Given the description of an element on the screen output the (x, y) to click on. 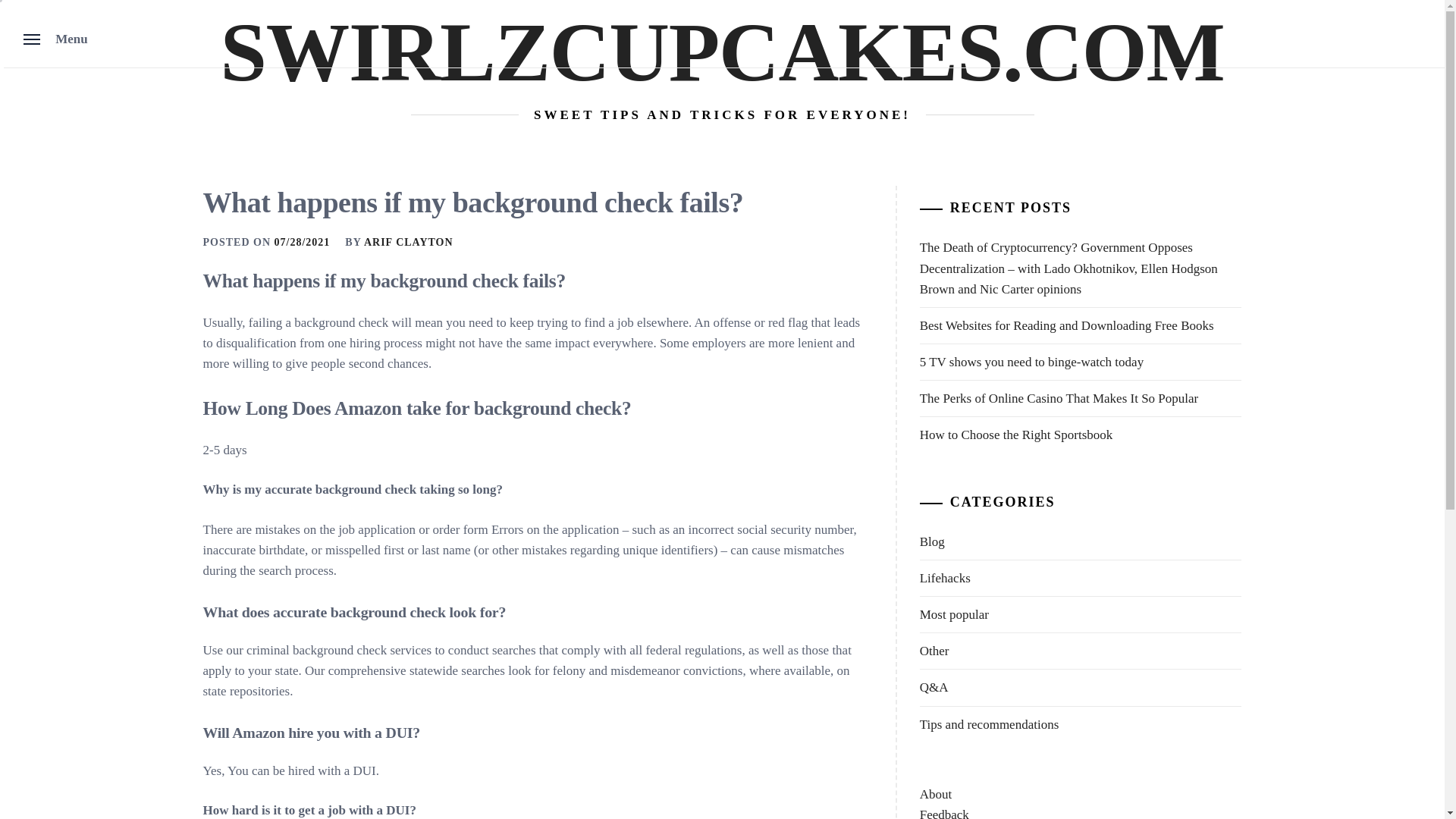
Pinterest (5, 114)
Lifehacks (945, 577)
How to Choose the Right Sportsbook (1080, 434)
SWIRLZCUPCAKES.COM (722, 51)
Facebook (5, 96)
Other (934, 650)
Blog (932, 541)
Best Websites for Reading and Downloading Free Books (1080, 325)
Reddit (5, 109)
ARIF CLAYTON (408, 242)
